Given the description of an element on the screen output the (x, y) to click on. 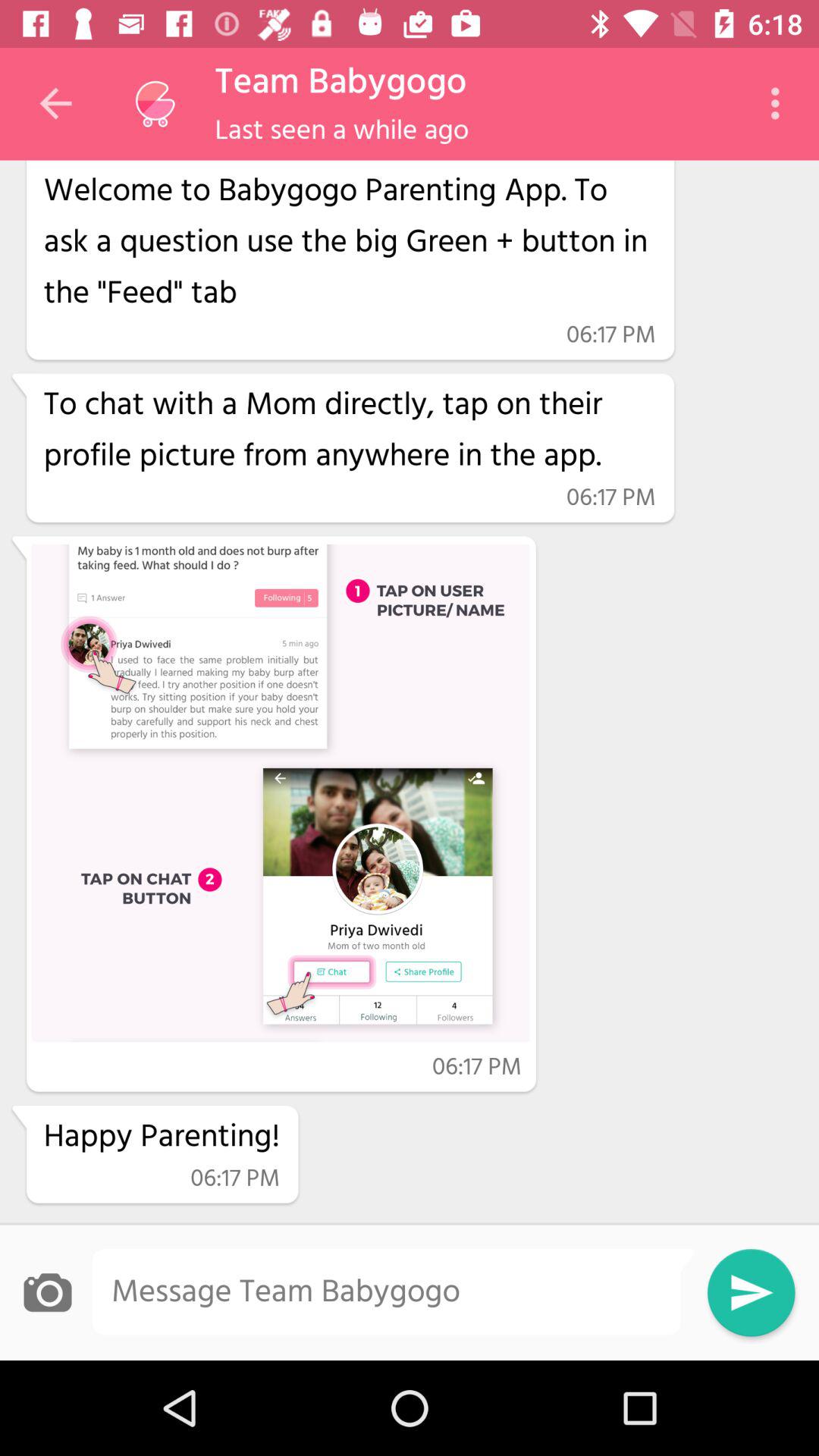
open the item above the hi app crawler item (55, 103)
